Given the description of an element on the screen output the (x, y) to click on. 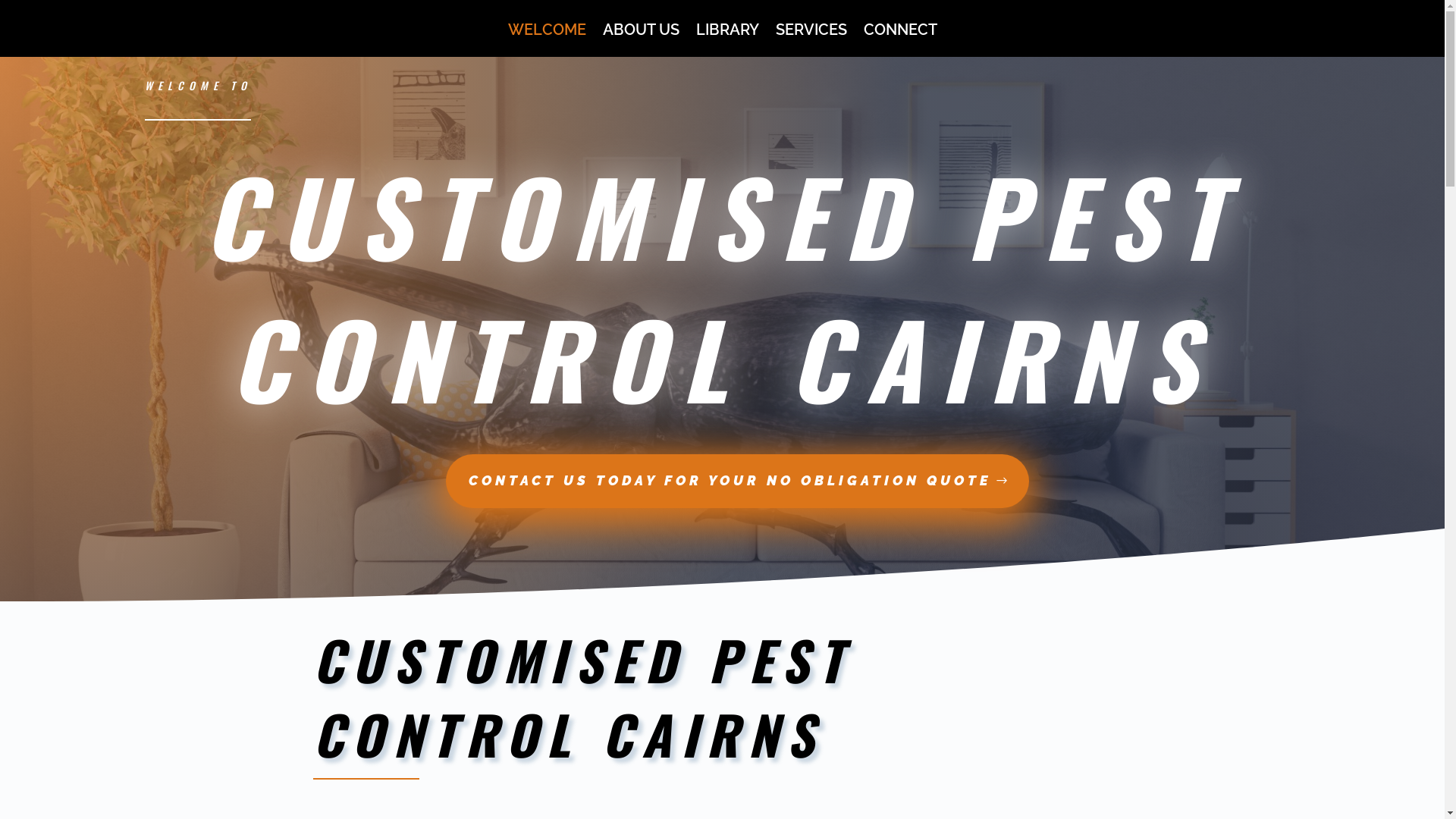
CONNECT Element type: text (899, 40)
ABOUT US Element type: text (640, 40)
SERVICES Element type: text (810, 40)
CONTACT US TODAY FOR YOUR NO OBLIGATION QUOTE Element type: text (737, 481)
WELCOME Element type: text (547, 40)
LIBRARY Element type: text (727, 40)
